Given the description of an element on the screen output the (x, y) to click on. 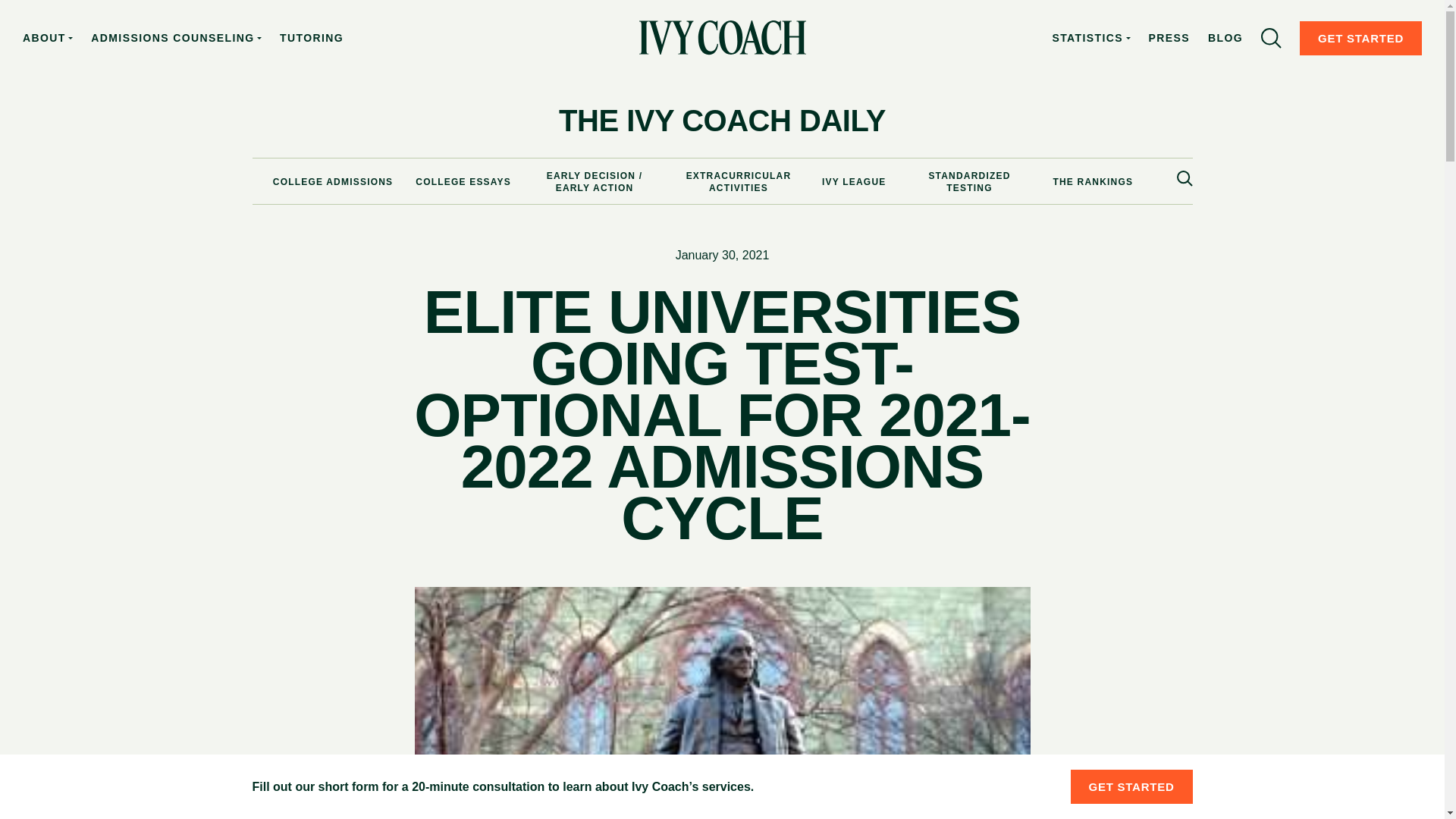
TUTORING (311, 37)
GET STARTED (1131, 786)
GET STARTED (1361, 38)
ABOUT (47, 37)
BLOG (1225, 37)
ADMISSIONS COUNSELING (176, 37)
STATISTICS (1090, 37)
homepage (722, 37)
PRESS (1168, 37)
